Given the description of an element on the screen output the (x, y) to click on. 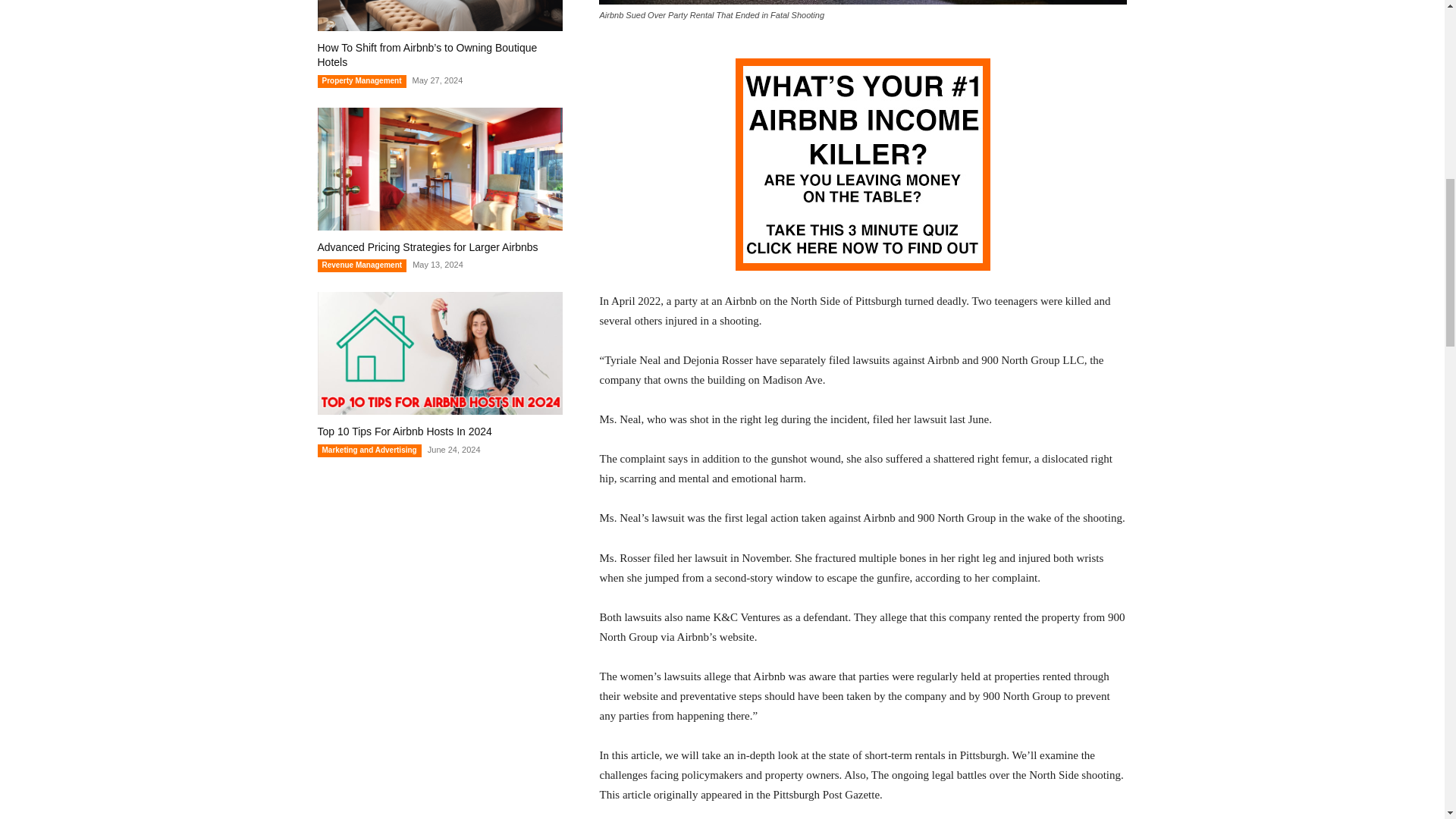
Top 10 Tips For Airbnb Hosts In 2024 (404, 431)
Property Management (361, 81)
Revenue Management (361, 265)
Advanced Pricing Strategies for Larger Airbnbs (427, 246)
Marketing and Advertising (368, 450)
